Given the description of an element on the screen output the (x, y) to click on. 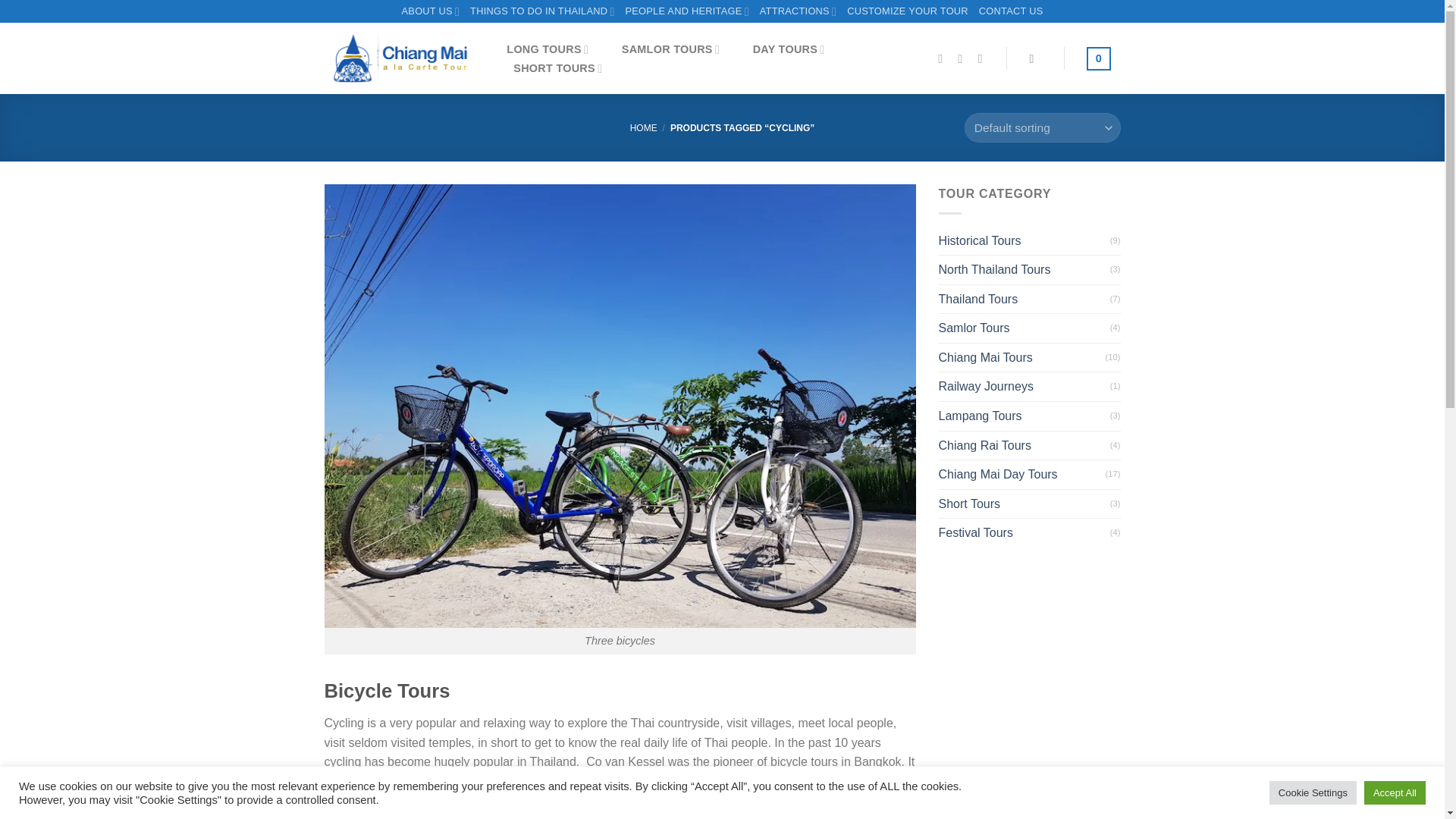
ATTRACTIONS (797, 11)
Follow on Pinterest (983, 58)
Cart (1098, 58)
Send us an email (963, 58)
THINGS TO DO IN THAILAND (542, 11)
ABOUT US (430, 11)
PEOPLE AND HERITAGE (686, 11)
